Given the description of an element on the screen output the (x, y) to click on. 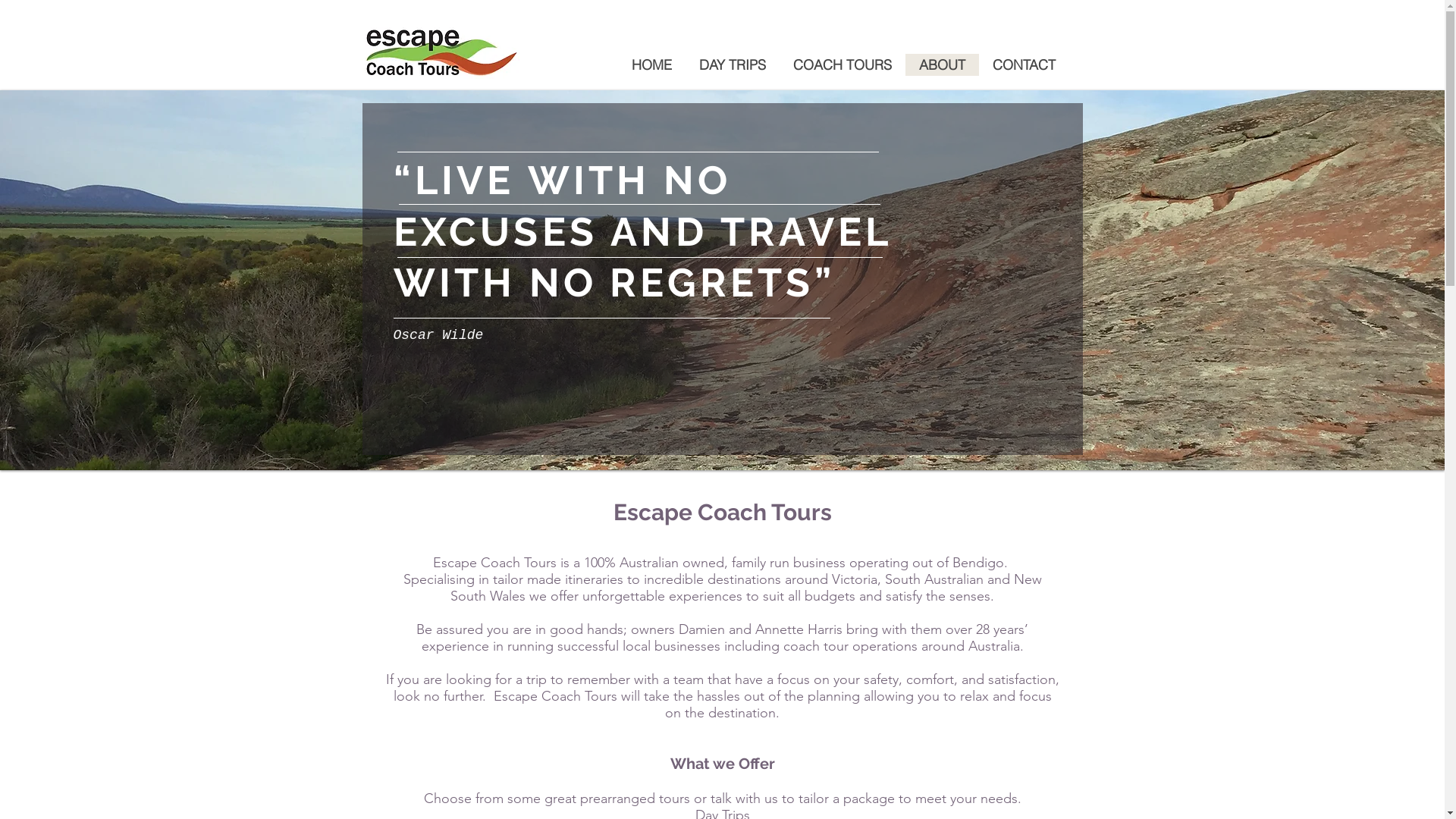
COACH TOURS Element type: text (842, 64)
DAY TRIPS Element type: text (732, 64)
CONTACT Element type: text (1023, 64)
HOME Element type: text (650, 64)
ABOUT Element type: text (942, 64)
